Given the description of an element on the screen output the (x, y) to click on. 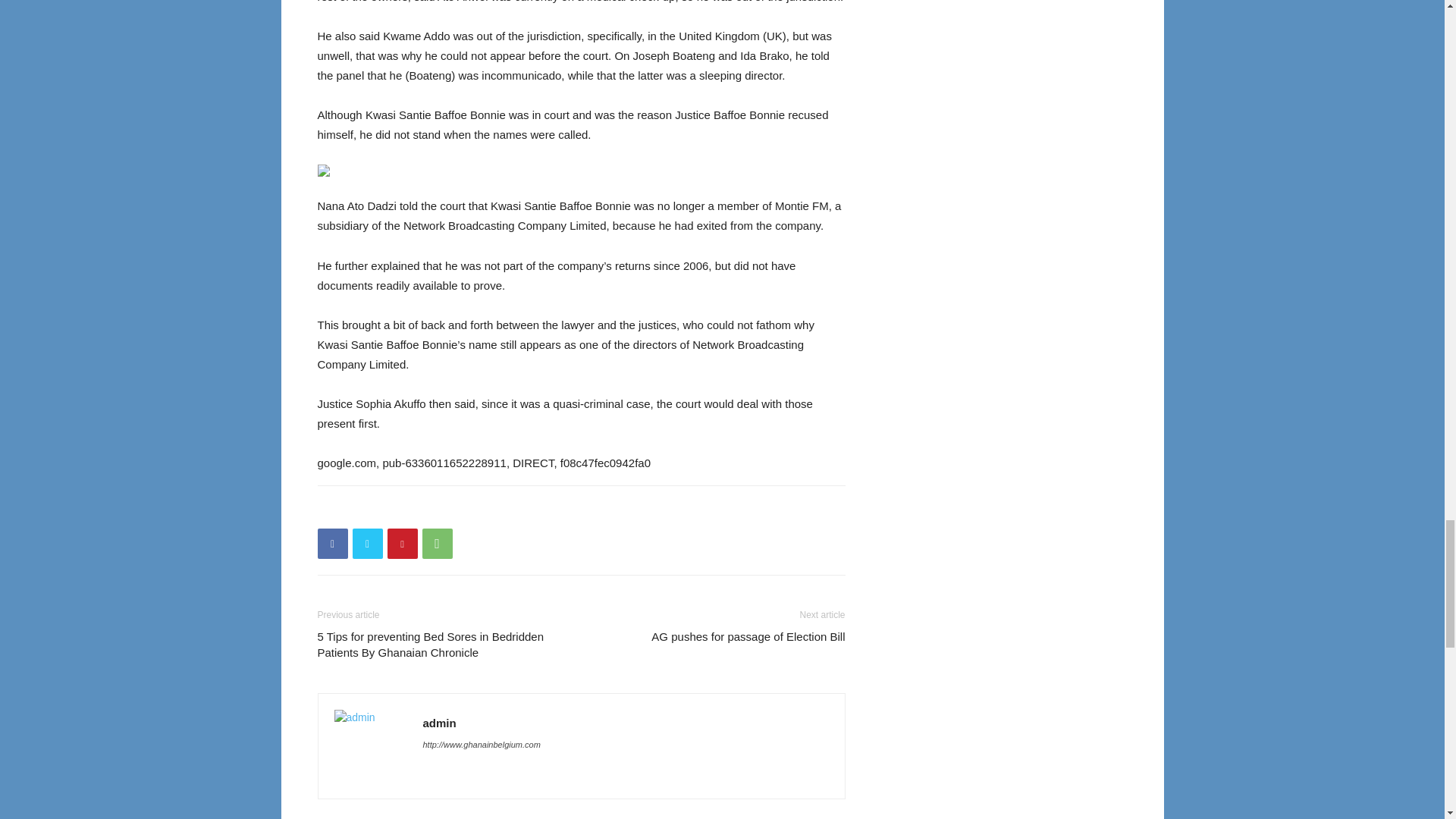
bottomFacebookLike (430, 509)
WhatsApp (436, 543)
Facebook (332, 543)
Pinterest (401, 543)
Twitter (366, 543)
